Given the description of an element on the screen output the (x, y) to click on. 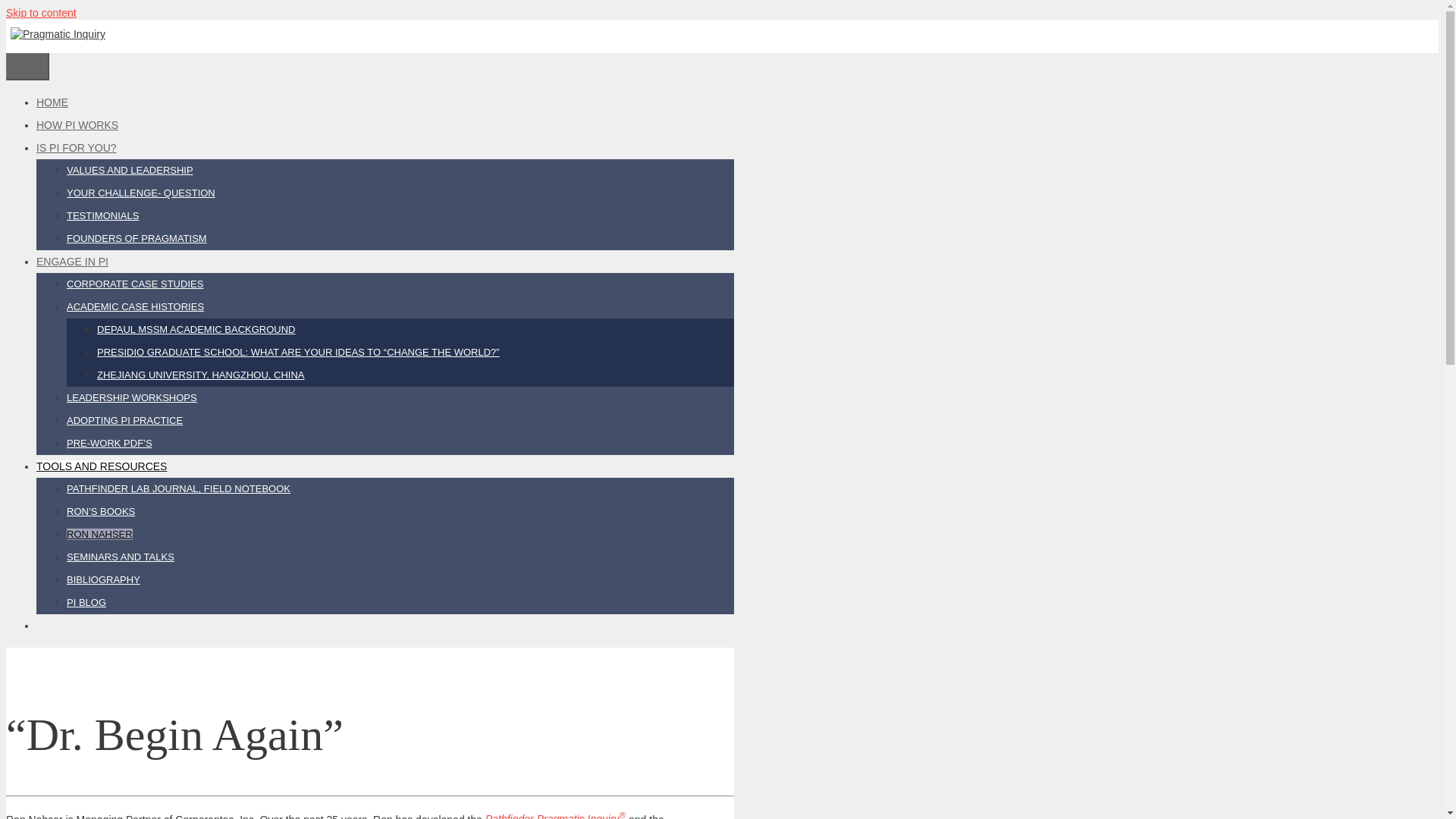
CORPORATE CASE STUDIES (134, 283)
ACADEMIC CASE HISTORIES (134, 306)
YOUR CHALLENGE- QUESTION (140, 193)
LEADERSHIP WORKSHOPS (131, 397)
Skip to content (41, 12)
SEMINARS AND TALKS (120, 556)
HOW PI WORKS (76, 124)
PI BLOG (86, 602)
RON NAHSER (99, 533)
TOOLS AND RESOURCES (101, 466)
Pathfinder Pragmatic Inquiry (552, 816)
DEPAUL MSSM ACADEMIC BACKGROUND (196, 328)
VALUES AND LEADERSHIP (129, 170)
HOME (52, 102)
ENGAGE IN PI (71, 261)
